Given the description of an element on the screen output the (x, y) to click on. 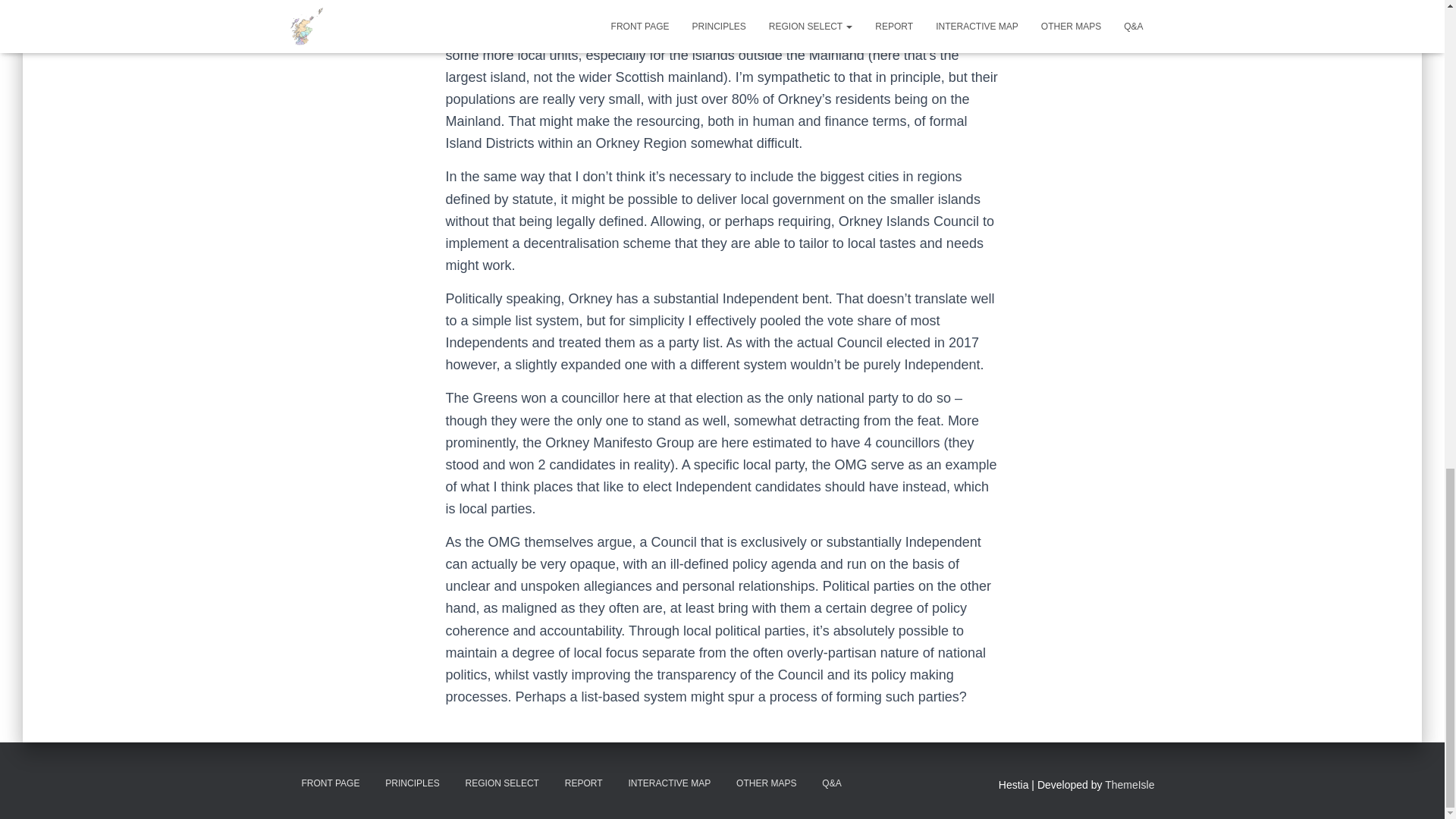
PRINCIPLES (411, 783)
OTHER MAPS (766, 783)
FRONT PAGE (330, 783)
INTERACTIVE MAP (668, 783)
REGION SELECT (502, 783)
REPORT (583, 783)
ThemeIsle (1129, 784)
